Given the description of an element on the screen output the (x, y) to click on. 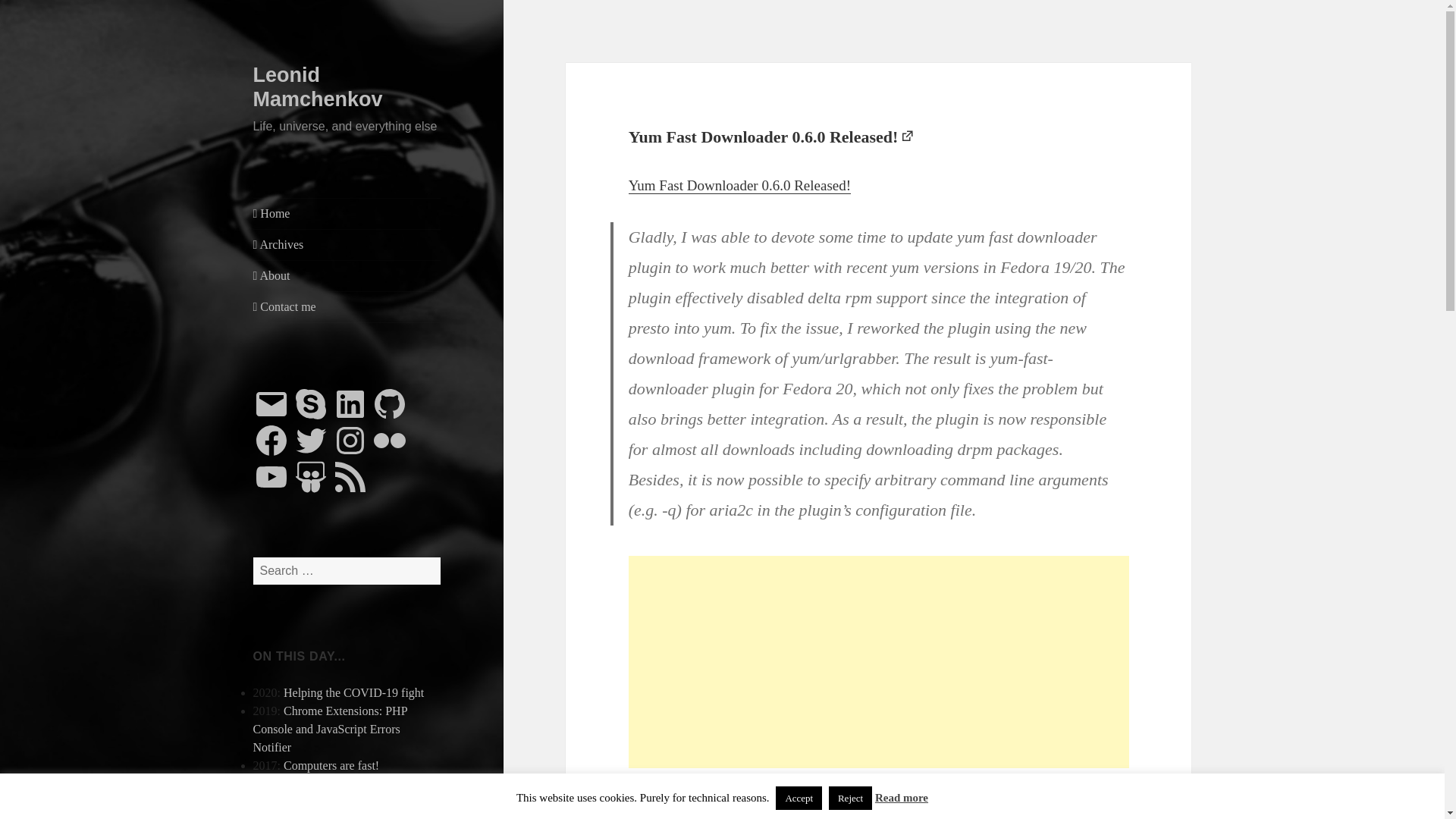
Twitter (310, 440)
LinkedIn (349, 403)
Leonid Mamchenkov (317, 86)
Facebook (271, 440)
YouTube (271, 476)
Click to share on Twitter (640, 816)
RSS Feed (349, 476)
Click to share on Pocket (761, 816)
Instagram (349, 440)
Home (347, 214)
Click to share on Pinterest (731, 816)
Archives (347, 245)
Click to share on Facebook (670, 816)
